Given the description of an element on the screen output the (x, y) to click on. 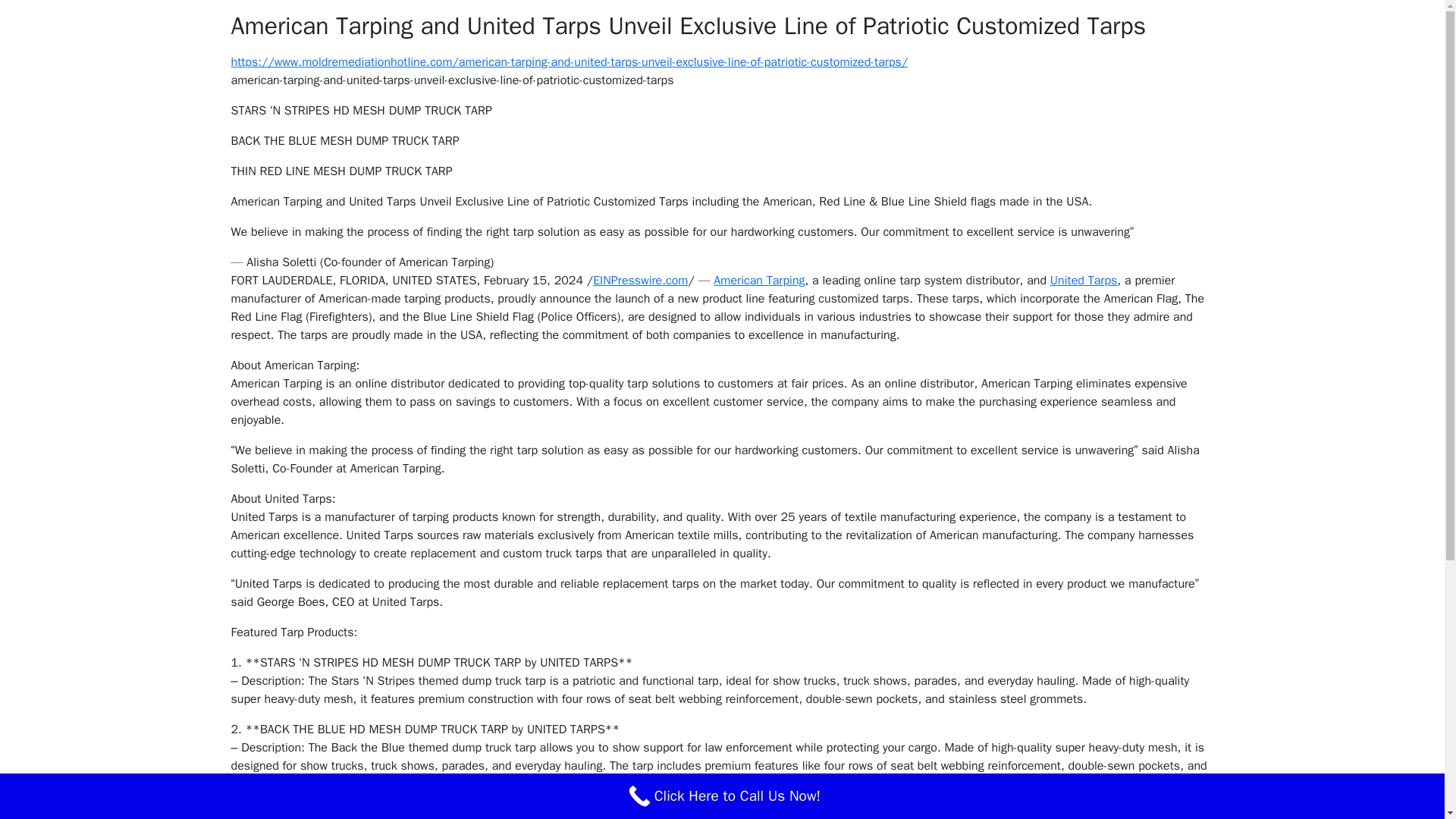
United Tarps (1083, 280)
American Tarping (759, 280)
EINPresswire.com (639, 280)
